Given the description of an element on the screen output the (x, y) to click on. 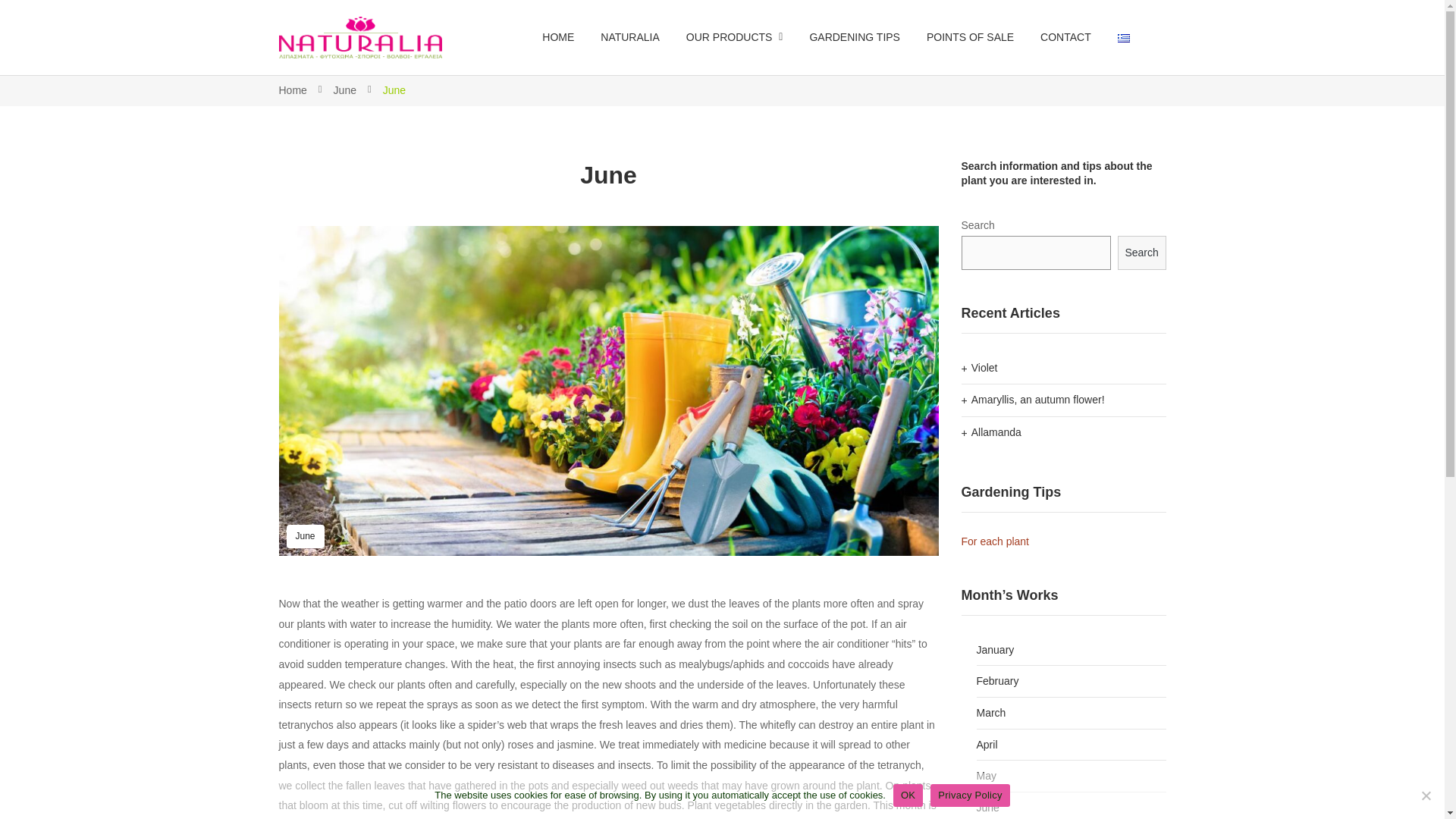
POINTS OF SALE (969, 37)
CONTACT (1065, 37)
NATURALIA (629, 37)
OUR PRODUCTS (734, 37)
GARDENING TIPS (854, 37)
